Given the description of an element on the screen output the (x, y) to click on. 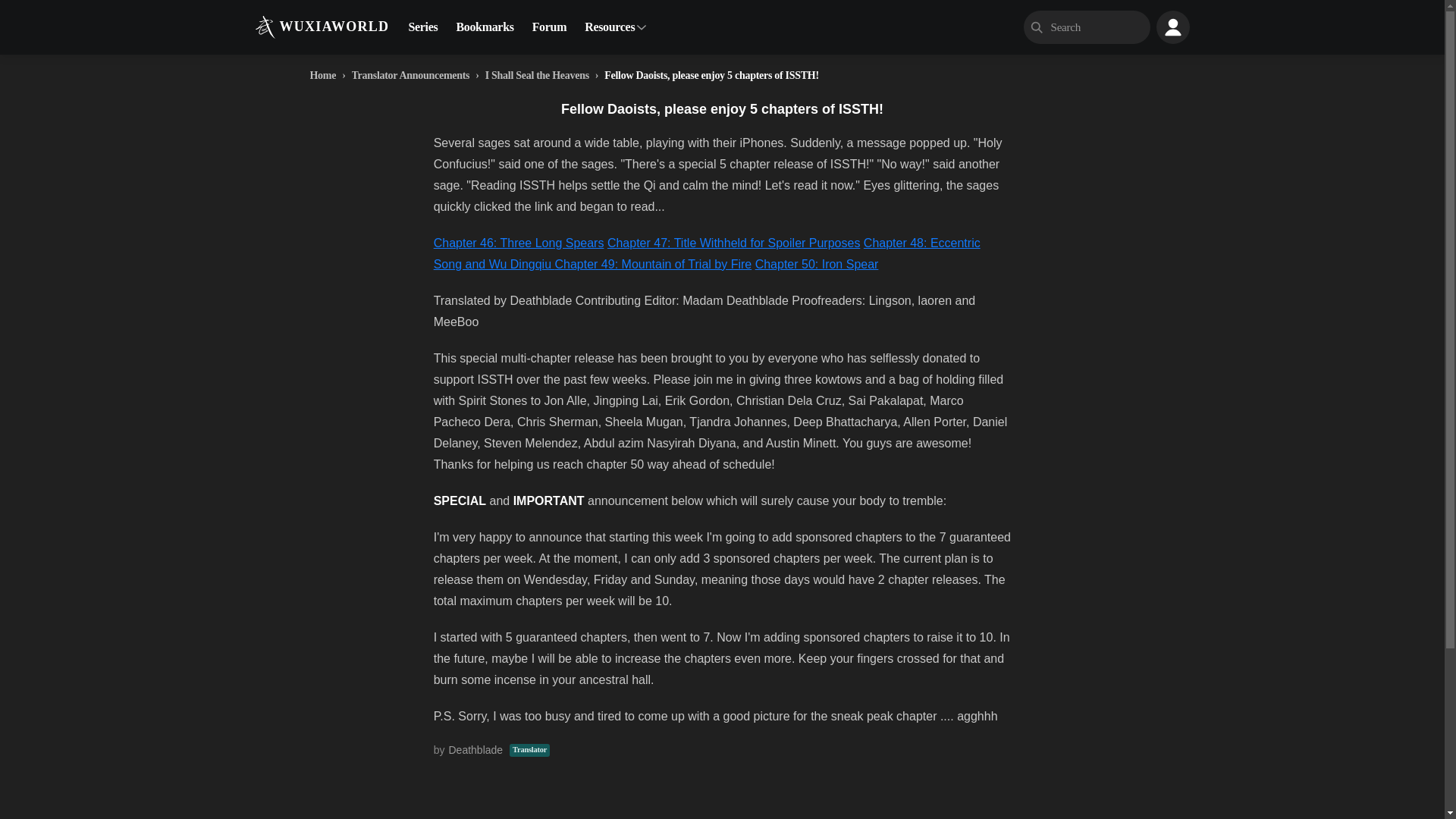
Resources (610, 27)
Translator Announcements (411, 75)
Chapter 47: Title Withheld for Spoiler Purposes (733, 242)
I Shall Seal the Heavens (536, 75)
Fellow Daoists, please enjoy 5 chapters of ISSTH! (711, 75)
Chapter 49: Mountain of Trial by Fire (653, 264)
Bookmarks (484, 27)
Home (322, 75)
Chapter 50: Iron Spear (817, 264)
Chapter 46: Three Long Spears (518, 242)
